Given the description of an element on the screen output the (x, y) to click on. 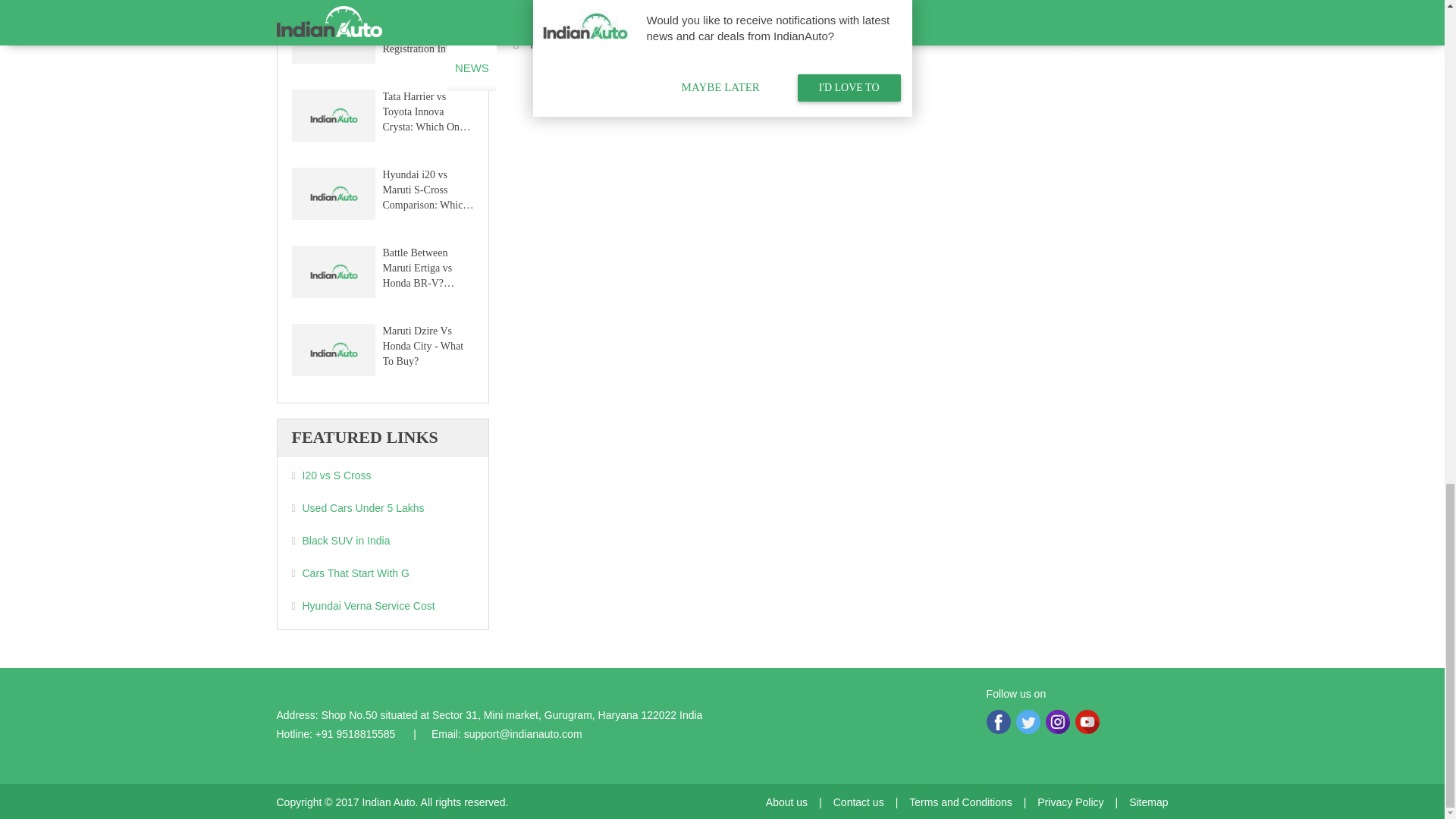
How To Apply For Permanent Car Registration In MP (332, 39)
How To Apply For Permanent Car Registration In MP (424, 33)
Maruti Dzire Vs Honda City - What To Buy? (424, 345)
Maruti Dzire Vs Honda City - What To Buy? (332, 351)
Battle Between Maruti Ertiga vs Honda BR-V? Which Wins? (332, 273)
Battle Between Maruti Ertiga vs Honda BR-V? Which Wins? (424, 267)
